Given the description of an element on the screen output the (x, y) to click on. 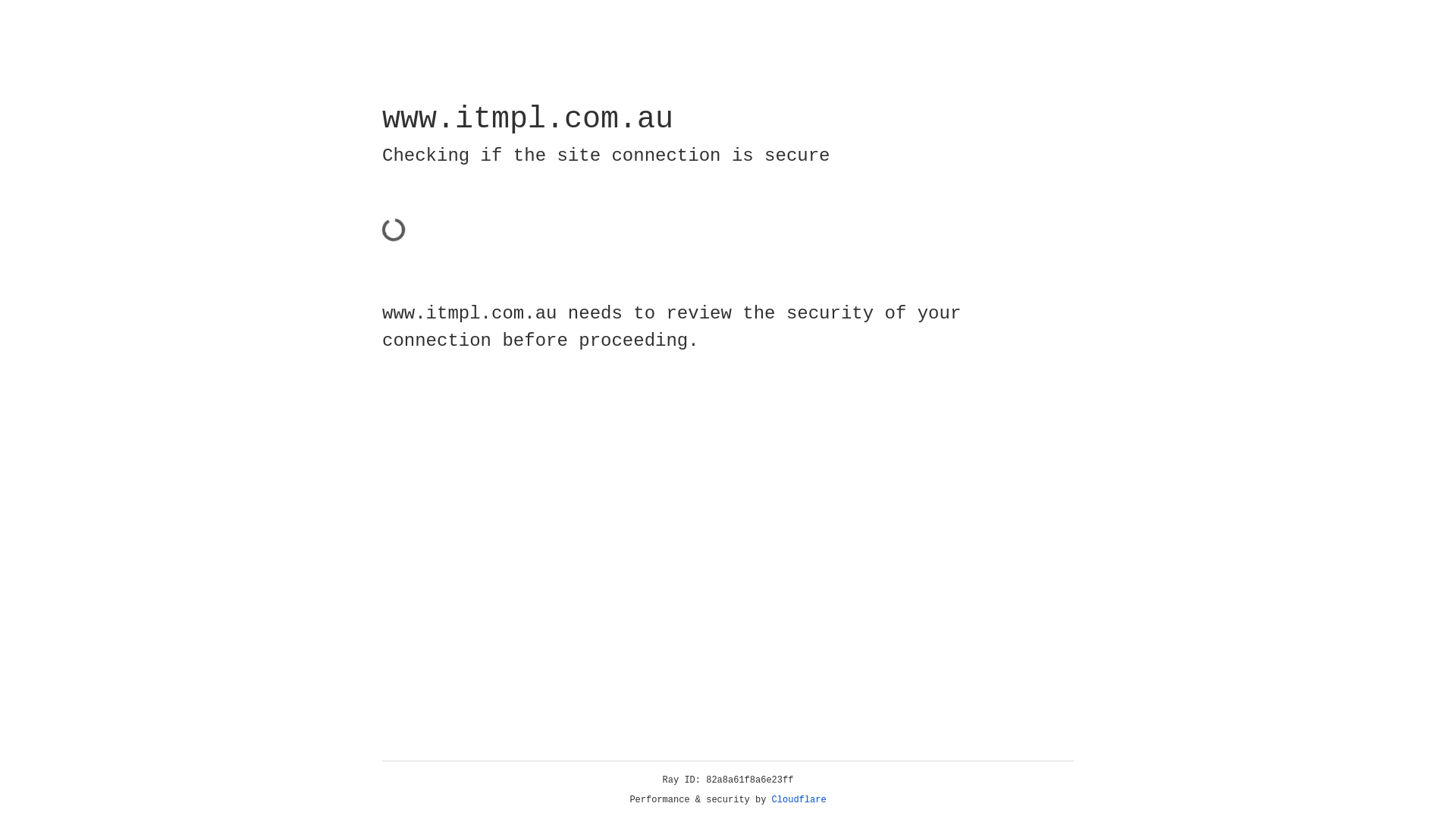
Cloudflare Element type: text (798, 799)
